Given the description of an element on the screen output the (x, y) to click on. 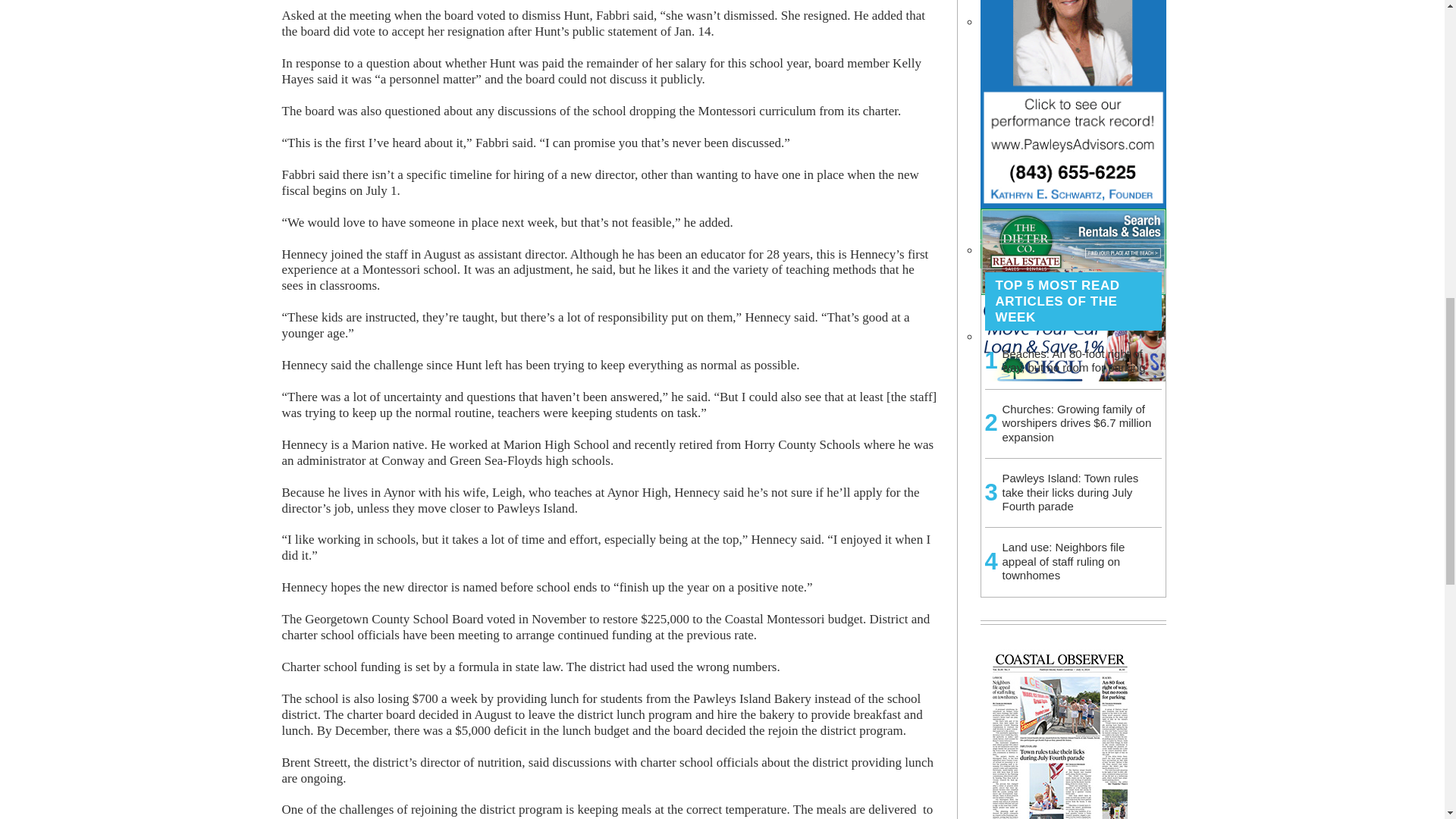
Land use: Neighbors file appeal of staff ruling on townhomes (1064, 560)
Beaches: An 80-foot right of way, but no room for parking (1074, 360)
